Given the description of an element on the screen output the (x, y) to click on. 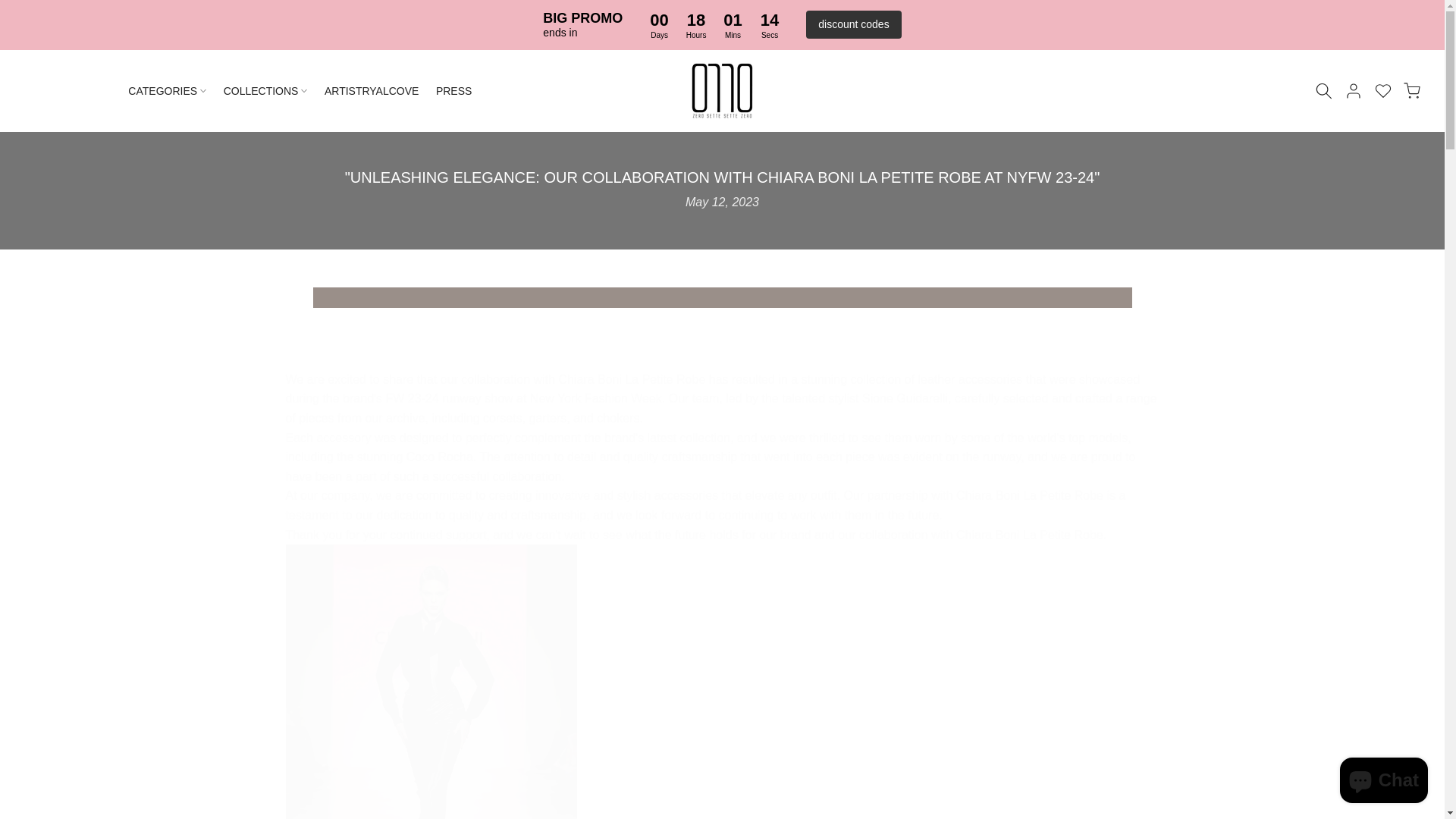
Skip to content (10, 56)
PRESS (458, 90)
CATEGORIES (171, 90)
COLLECTIONS (269, 90)
ARTISTRYALCOVE (376, 90)
discount codes (853, 24)
Shopify online store chat (1383, 781)
